Given the description of an element on the screen output the (x, y) to click on. 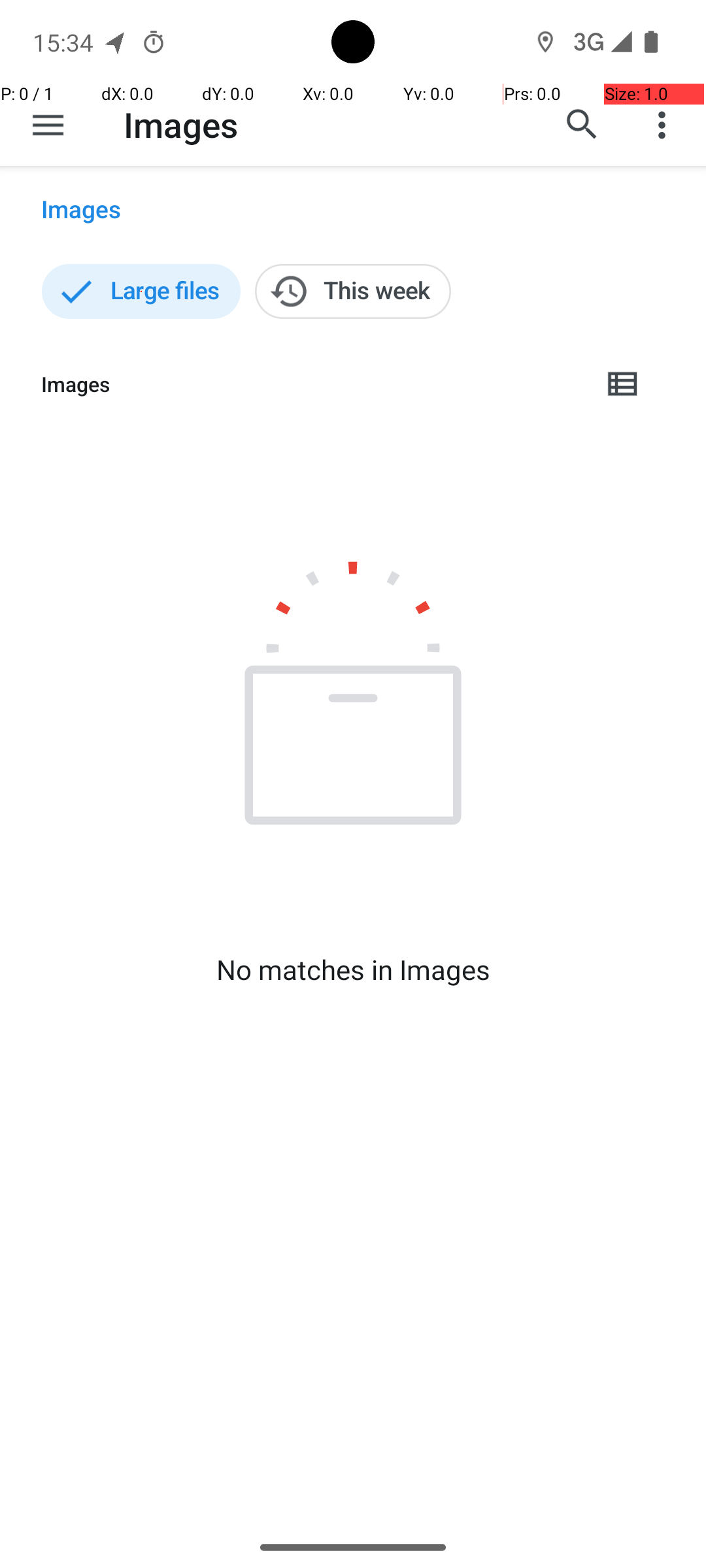
No matches in Images Element type: android.widget.TextView (352, 968)
